Given the description of an element on the screen output the (x, y) to click on. 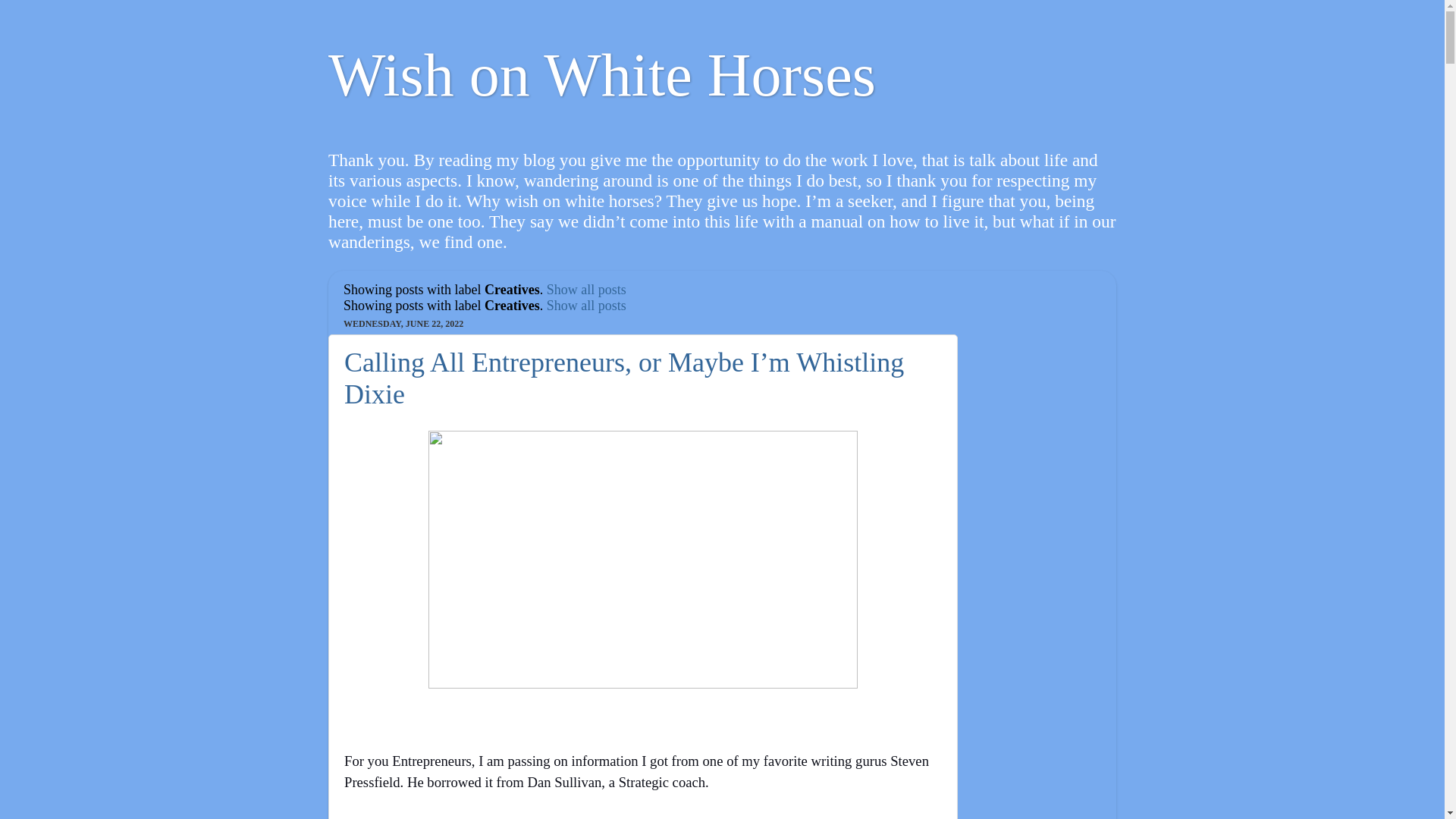
Wish on White Horses (602, 74)
Show all posts (586, 305)
Show all posts (586, 289)
